Given the description of an element on the screen output the (x, y) to click on. 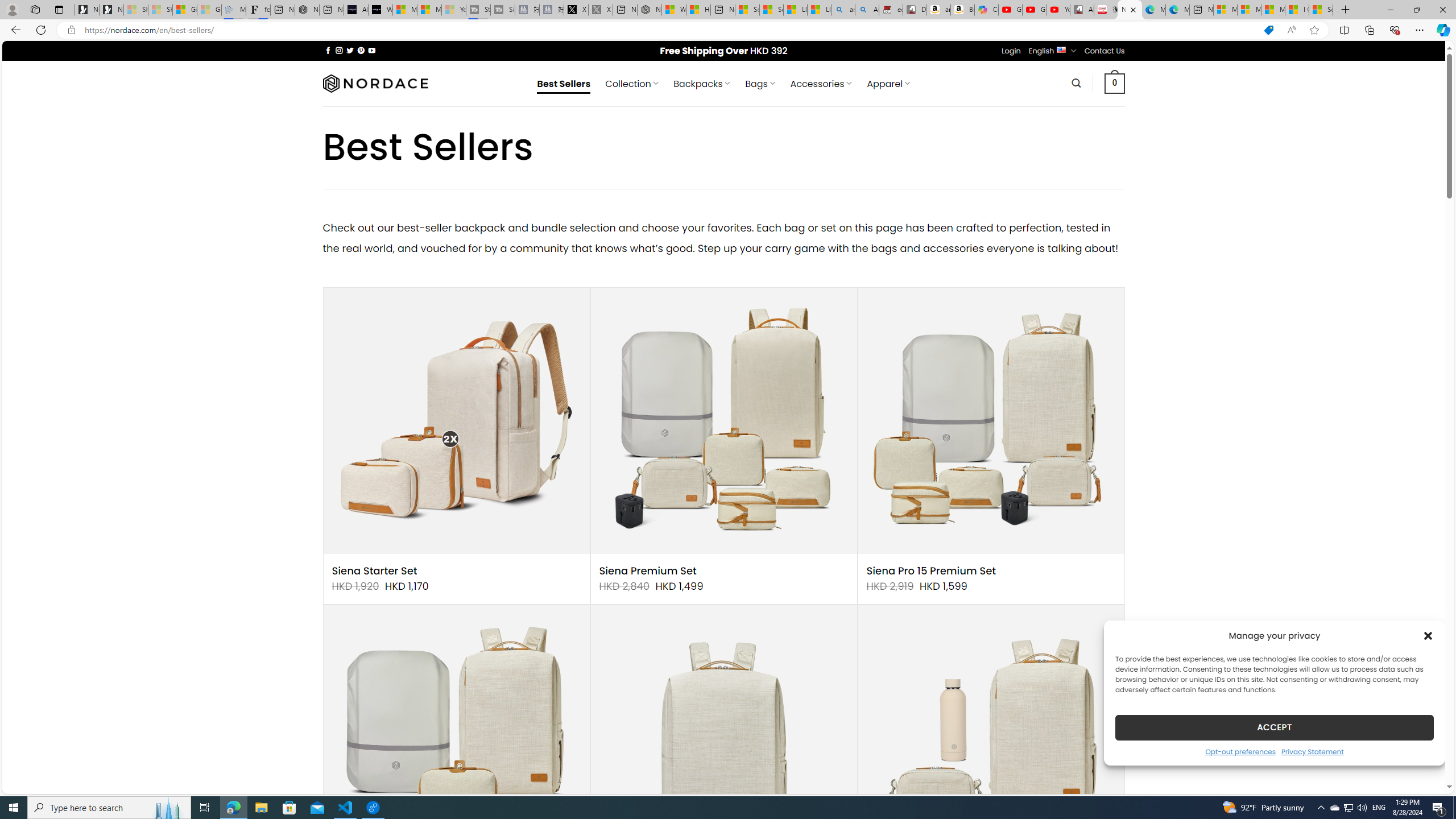
Streaming Coverage | T3 - Sleeping (478, 9)
What's the best AI voice generator? - voice.ai (380, 9)
Follow on Pinterest (360, 49)
Opt-out preferences (1240, 750)
Follow on YouTube (371, 49)
English (1061, 49)
